Given the description of an element on the screen output the (x, y) to click on. 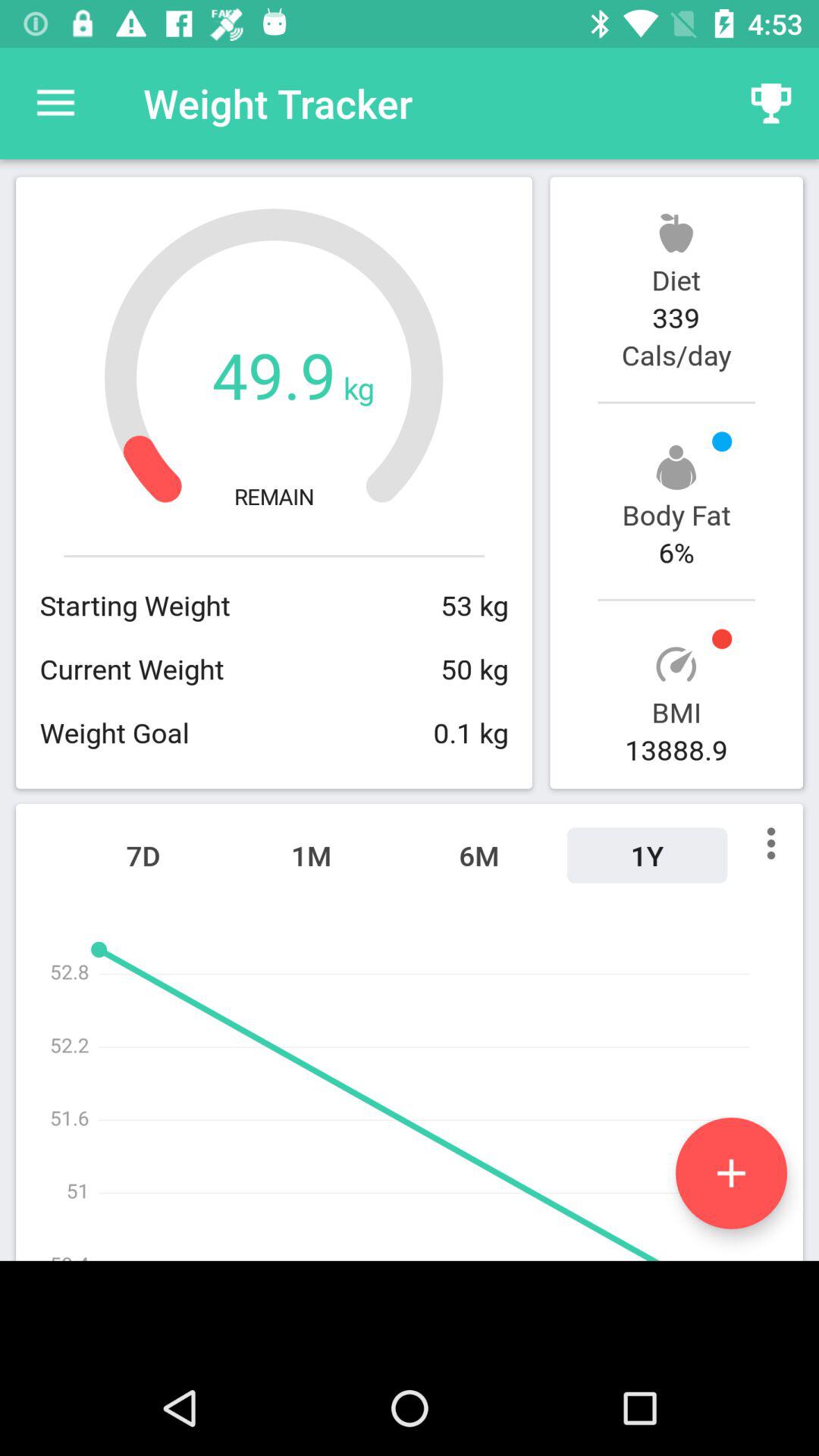
click the item at the top left corner (55, 103)
